Given the description of an element on the screen output the (x, y) to click on. 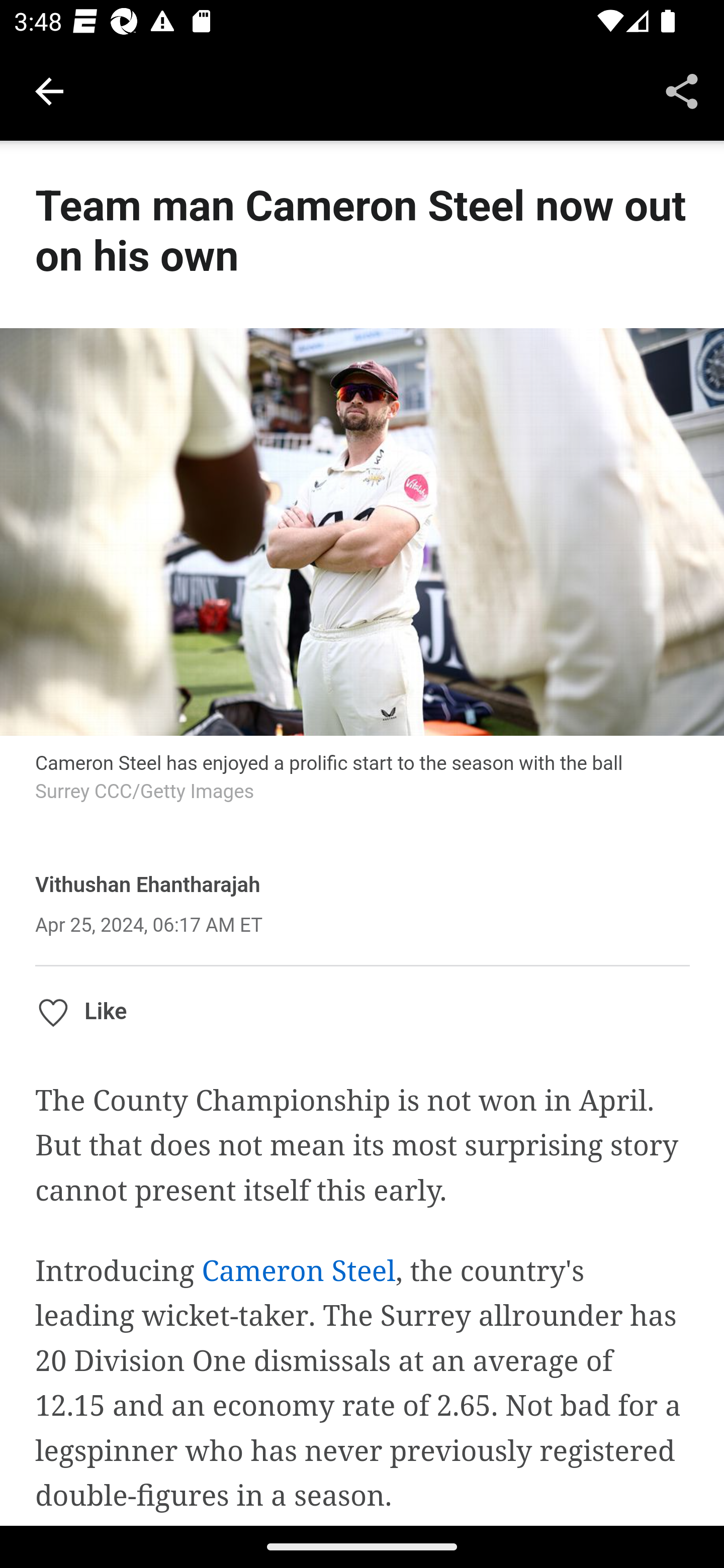
Navigate up (49, 91)
Share (681, 90)
